Given the description of an element on the screen output the (x, y) to click on. 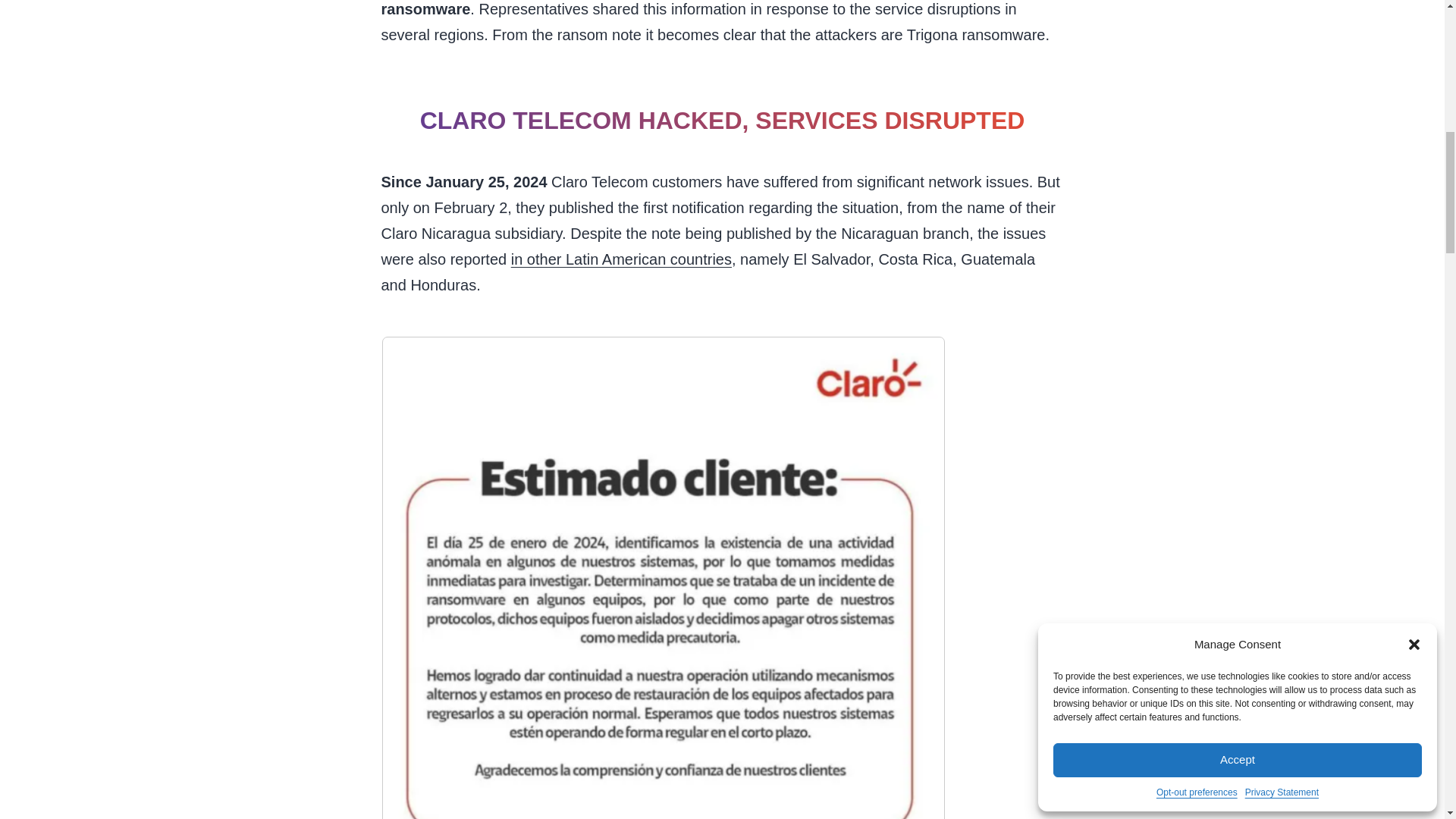
in other Latin American countries (621, 258)
